Given the description of an element on the screen output the (x, y) to click on. 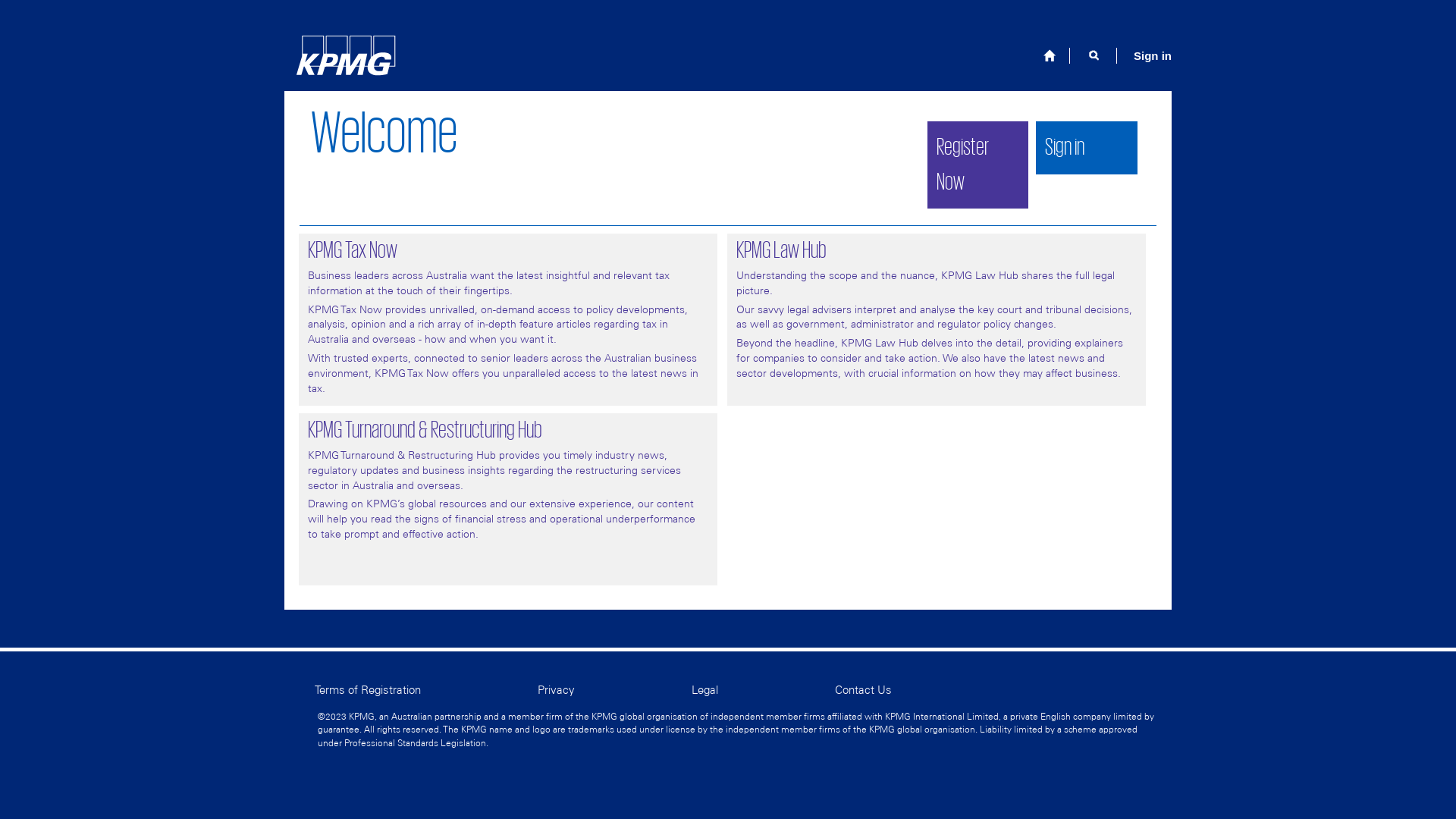
Sign in Element type: text (1064, 147)
Legal Element type: text (762, 689)
Sign in Element type: text (1152, 55)
Privacy Element type: text (614, 689)
Sign in Element type: text (1086, 147)
Search Element type: hover (1094, 55)
Register Now Element type: text (977, 164)
Home Element type: hover (1049, 55)
Register Now Element type: text (961, 164)
Terms of Registration Element type: text (425, 689)
Contact Us Element type: text (862, 689)
